Given the description of an element on the screen output the (x, y) to click on. 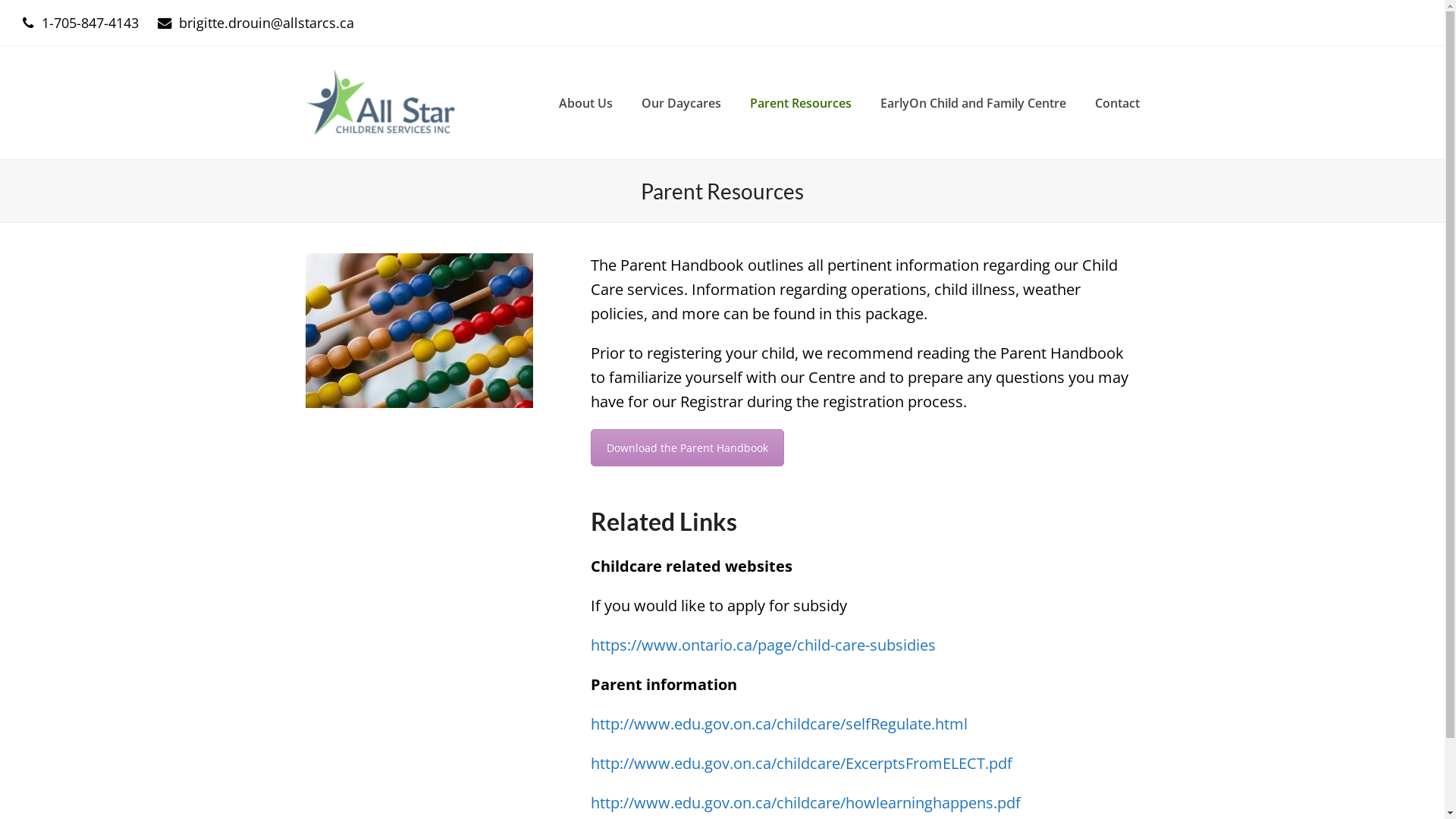
Parent Resources Element type: text (800, 102)
About Us Element type: text (585, 102)
brigitte.drouin@allstarcs.ca Element type: text (266, 21)
http://www.edu.gov.on.ca/childcare/selfRegulate.html Element type: text (778, 723)
Contact Element type: text (1116, 102)
http://www.edu.gov.on.ca/childcare/ExcerptsFromELECT.pdf Element type: text (801, 763)
pic-300x204 Element type: hover (418, 330)
1-705-847-4143 Element type: text (89, 21)
https://www.ontario.ca/page/child-care-subsidies Element type: text (762, 644)
EarlyOn Child and Family Centre Element type: text (973, 102)
http://www.edu.gov.on.ca/childcare/howlearninghappens.pdf Element type: text (805, 802)
Download the Parent Handbook Element type: text (687, 447)
Our Daycares Element type: text (680, 102)
